Given the description of an element on the screen output the (x, y) to click on. 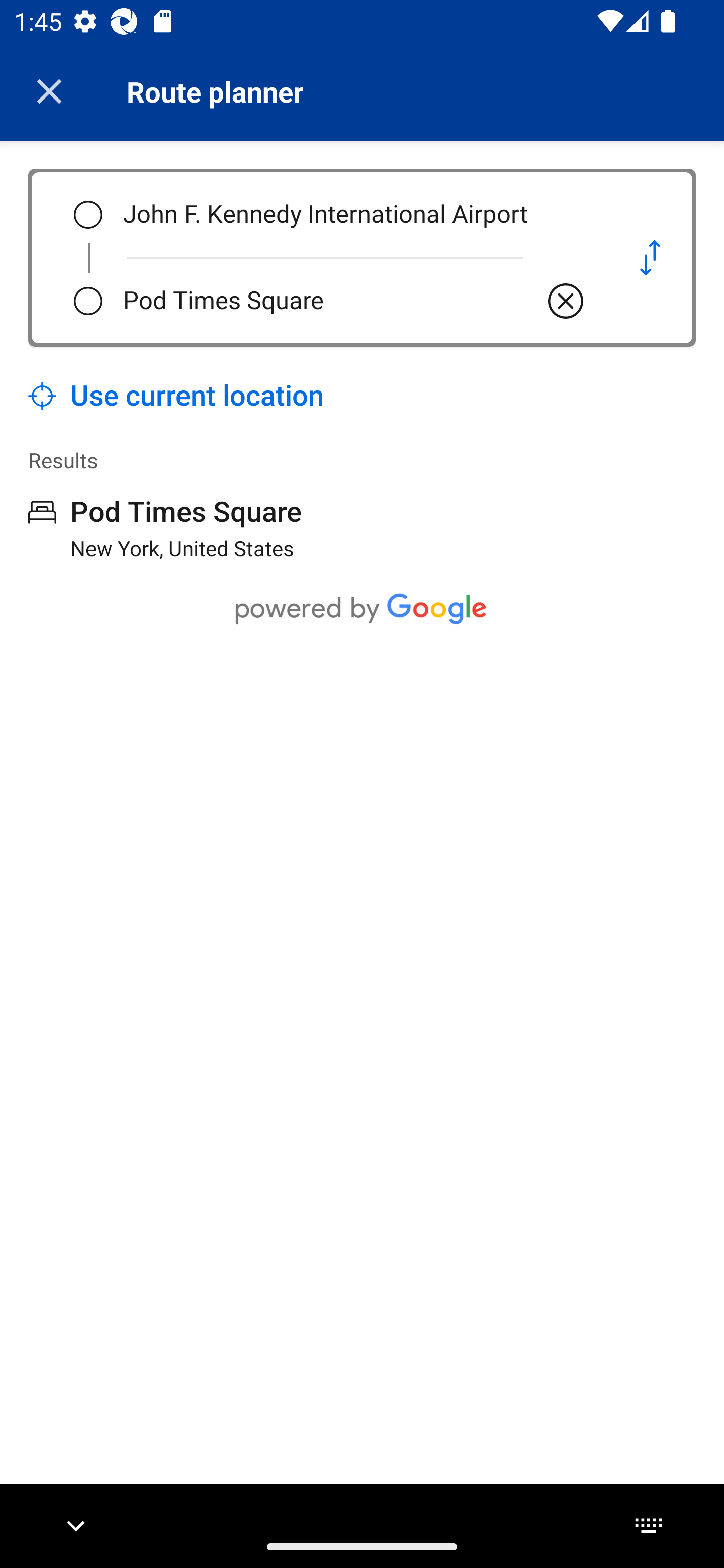
Close (49, 91)
John F. Kennedy International Airport (355, 214)
Swap pick-up location and destination (650, 257)
Pod Times Square Clear (355, 300)
Clear (565, 300)
Use current location (176, 395)
Pod Times Square New York, United States (164, 528)
